Given the description of an element on the screen output the (x, y) to click on. 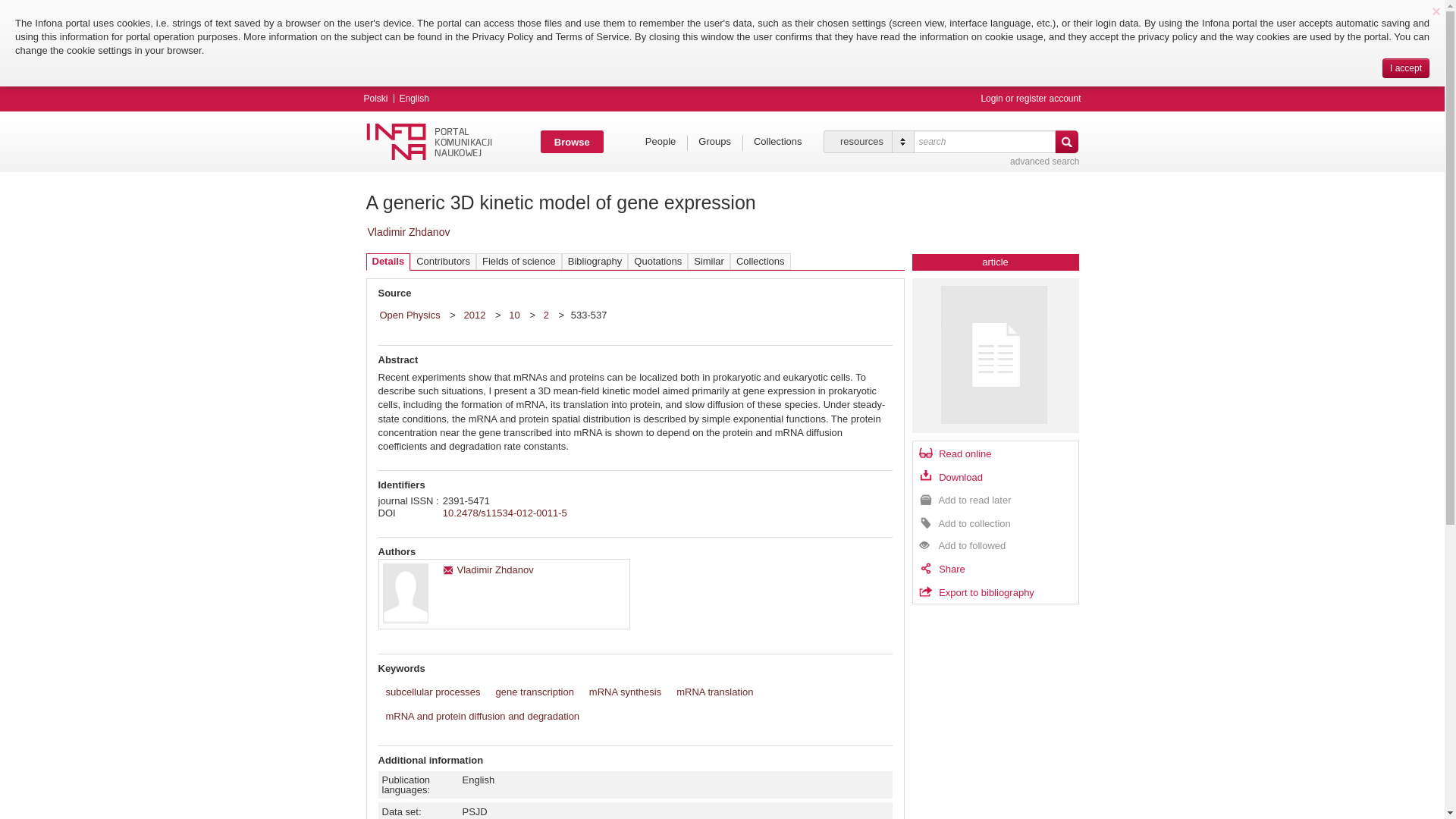
Collections (760, 261)
Fields of science (519, 261)
Groups (714, 141)
Vladimir Zhdanov (408, 232)
Polski (376, 98)
English (413, 98)
advanced search (1044, 161)
I accept (1405, 67)
Bibliography (595, 261)
Details (387, 262)
password recovery (1000, 99)
Browse (572, 141)
People (659, 141)
Collections (777, 141)
2012 (476, 314)
